Given the description of an element on the screen output the (x, y) to click on. 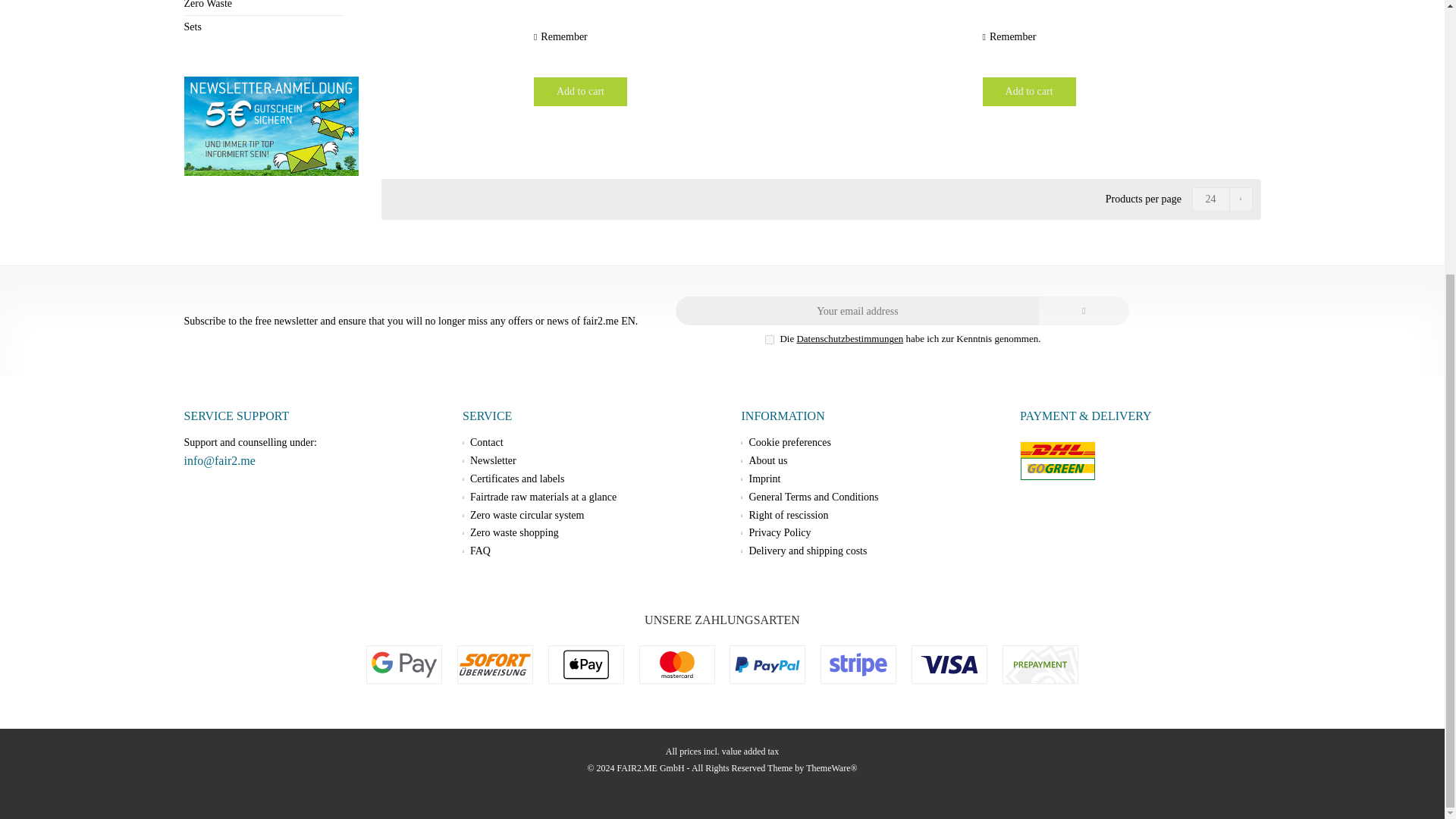
on (769, 338)
